Given the description of an element on the screen output the (x, y) to click on. 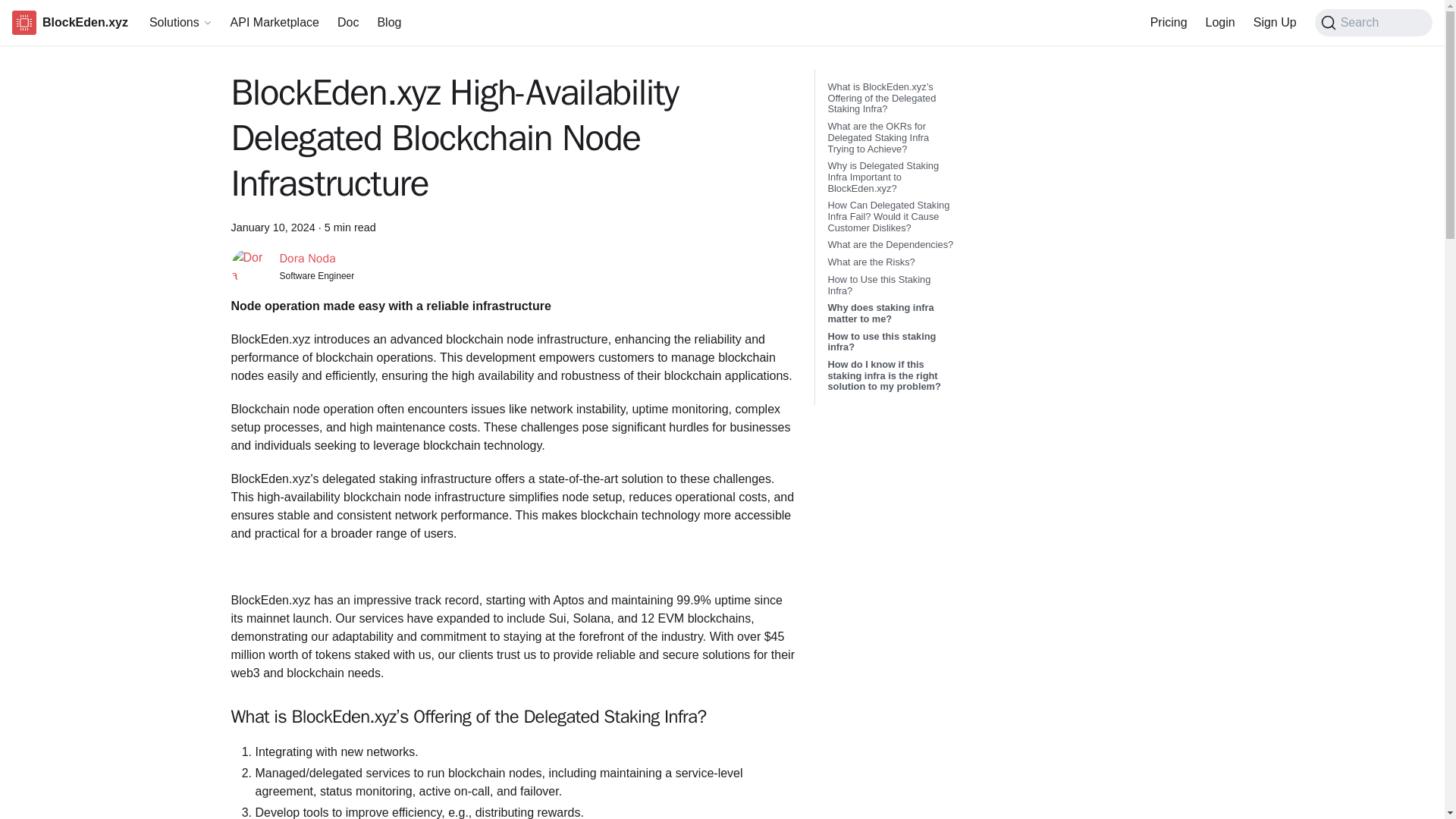
BlockEden.xyz (69, 22)
Search (1373, 22)
Solutions (180, 22)
Sign Up (1275, 22)
Pricing (1168, 22)
Blog (389, 22)
Doc (348, 22)
Why is Delegated Staking Infra Important to BlockEden.xyz? (891, 177)
API Marketplace (275, 22)
Dora Noda (306, 257)
Login (1220, 22)
